Given the description of an element on the screen output the (x, y) to click on. 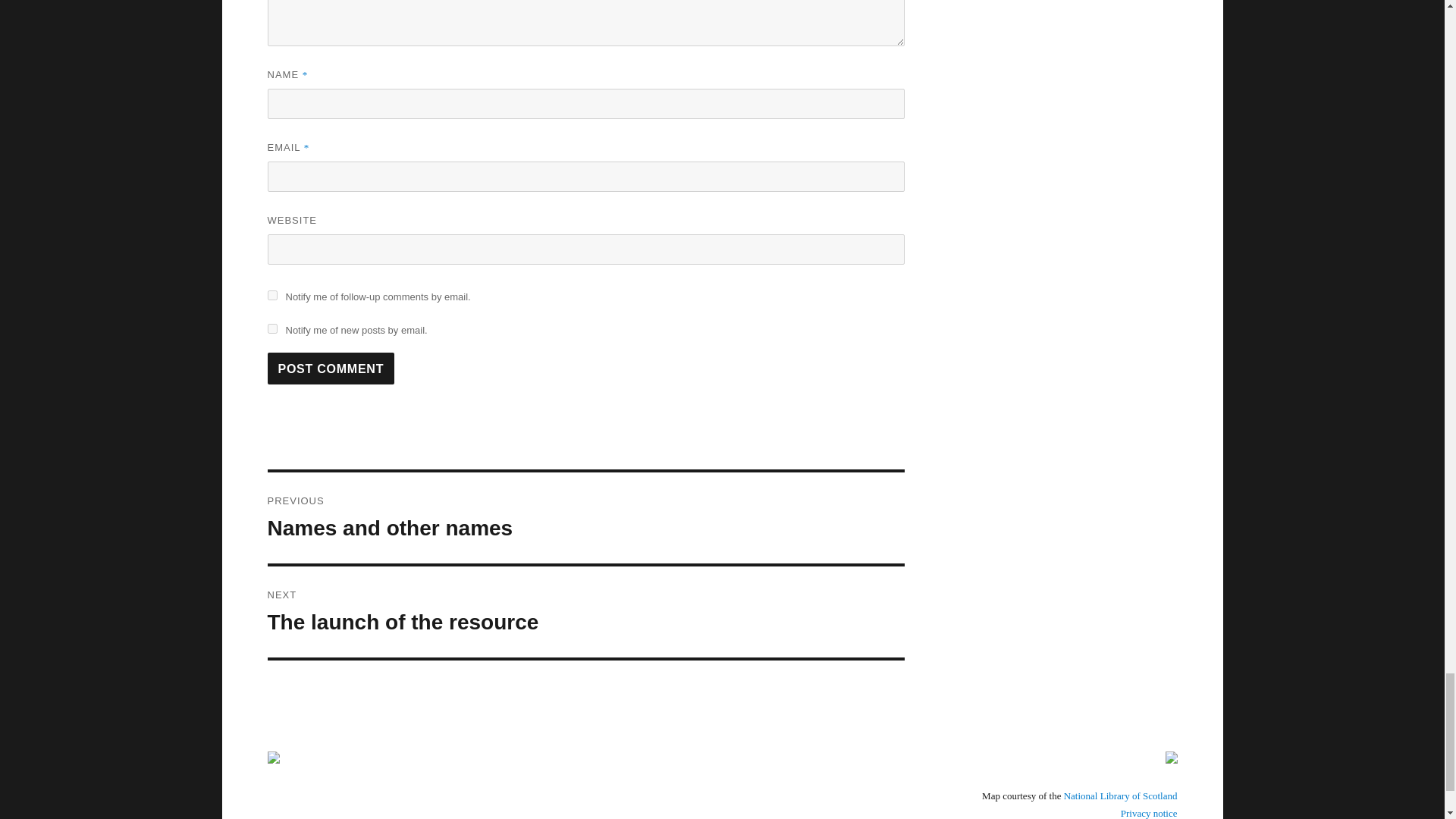
Post Comment (585, 611)
Post Comment (330, 368)
National Library of Scotland (330, 368)
subscribe (1120, 795)
subscribe (585, 517)
